Given the description of an element on the screen output the (x, y) to click on. 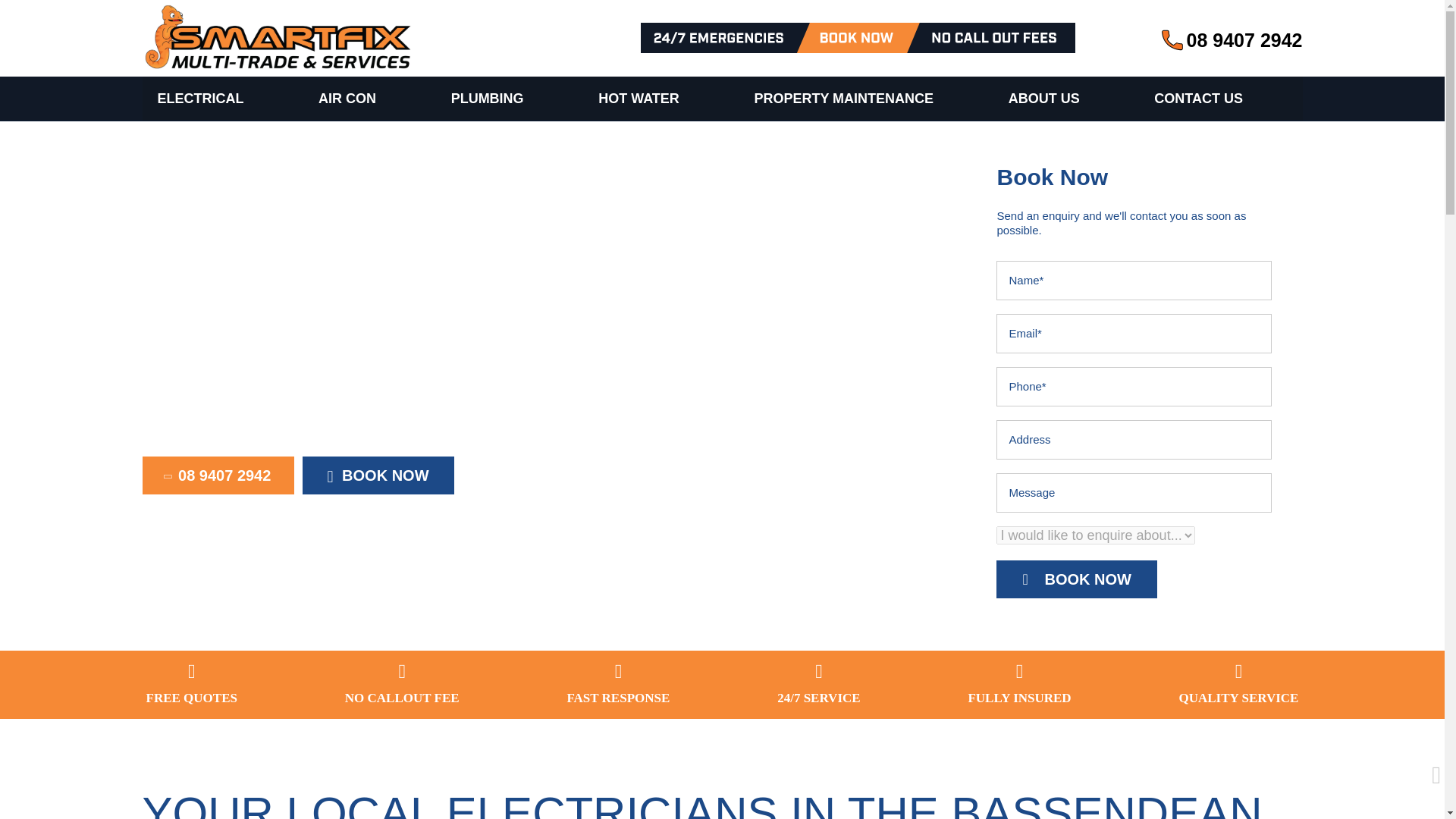
08 9407 2942 (1232, 40)
content (1232, 40)
Smartfix (278, 38)
PLUMBING (486, 98)
Book now (378, 475)
Book now (1075, 579)
AIR CON (346, 98)
ELECTRICAL (200, 98)
Call us (218, 475)
